Given the description of an element on the screen output the (x, y) to click on. 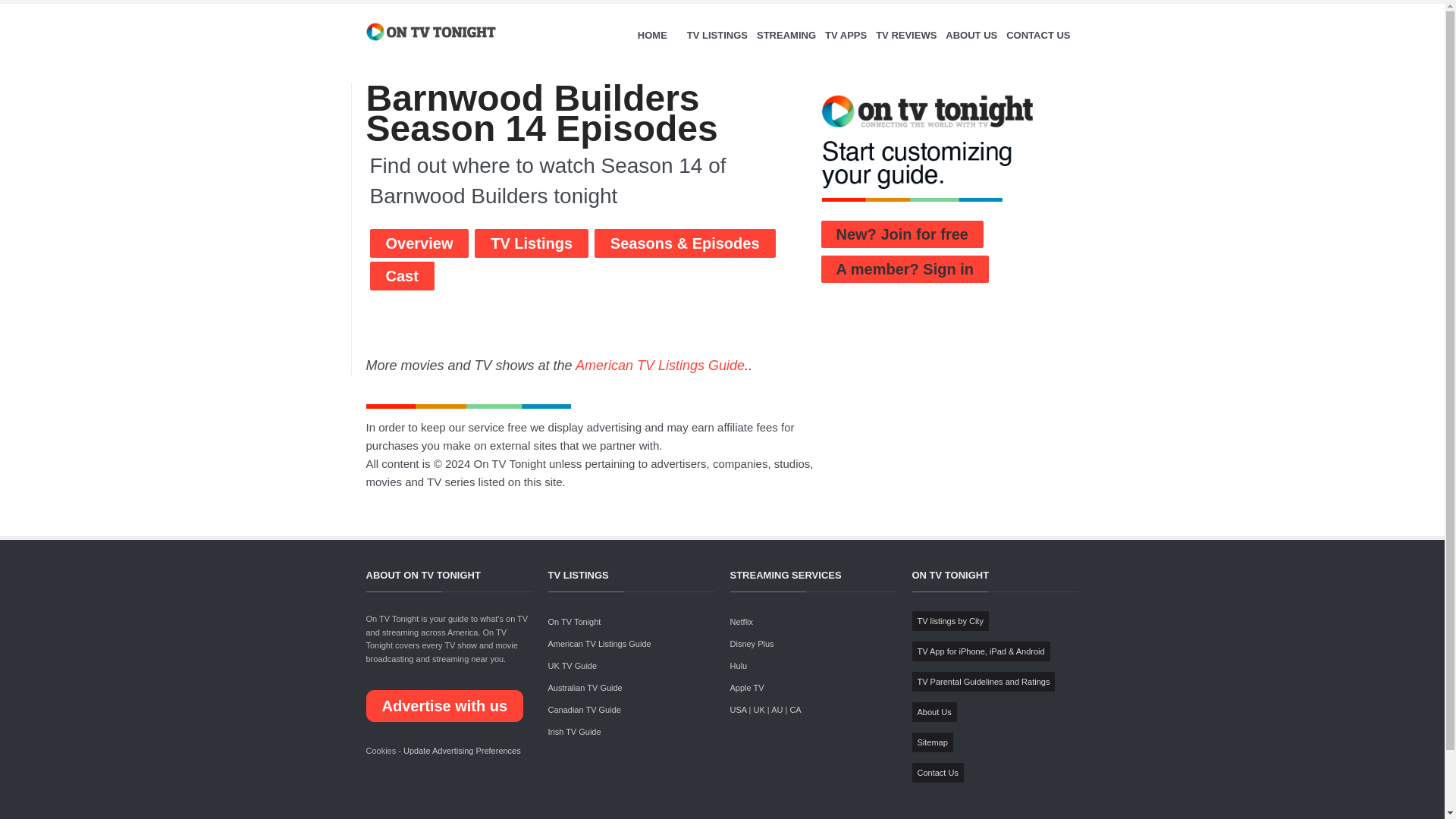
American TV Listings Guide (659, 365)
ABOUT US (970, 35)
Cast (401, 275)
STREAMING (786, 35)
CONTACT US (1037, 35)
Overview (418, 243)
TV Listings (531, 243)
TV LISTINGS (717, 35)
TV REVIEWS (905, 35)
